Given the description of an element on the screen output the (x, y) to click on. 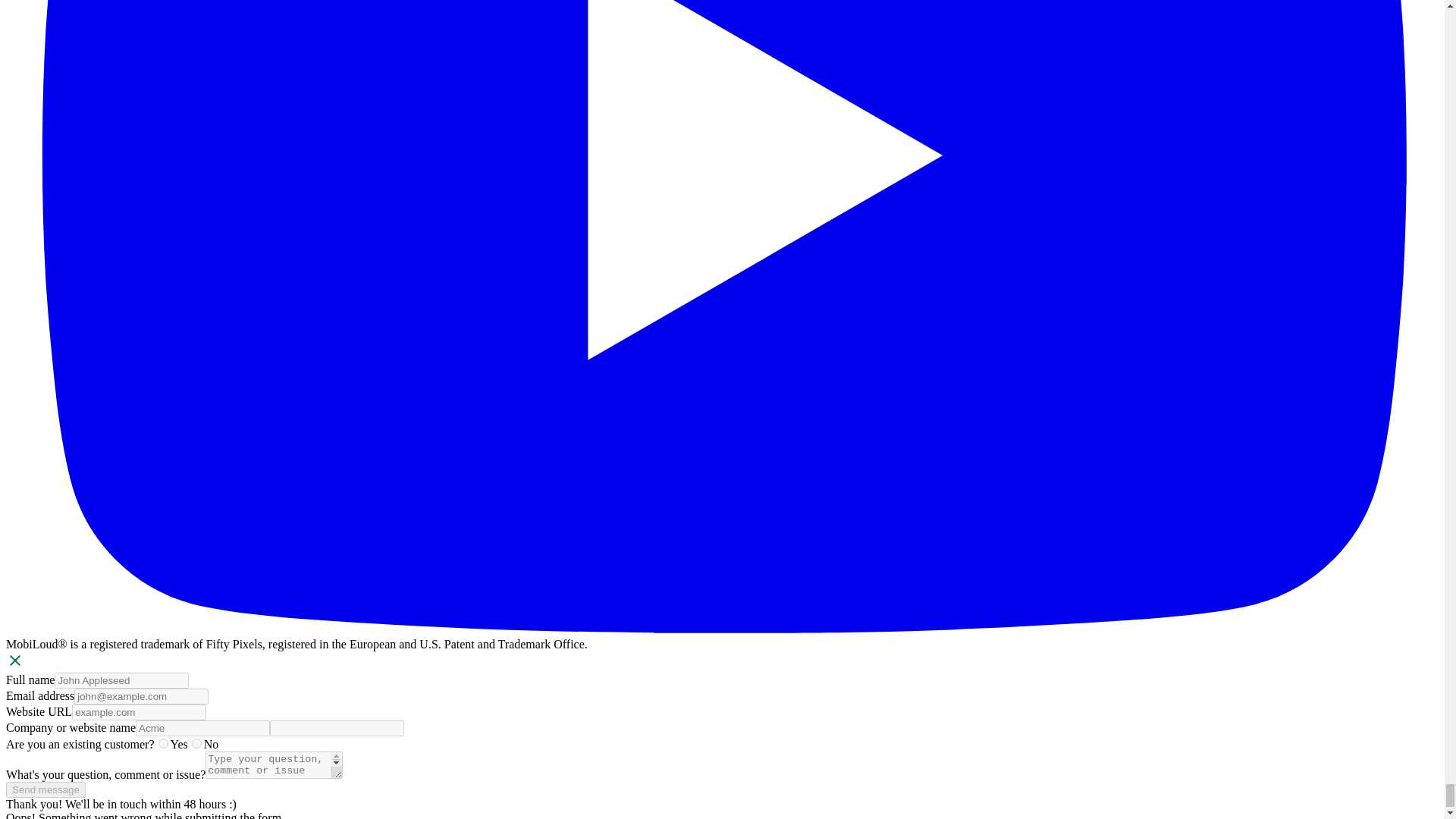
Send message (45, 789)
Yes (162, 743)
No (197, 743)
